Given the description of an element on the screen output the (x, y) to click on. 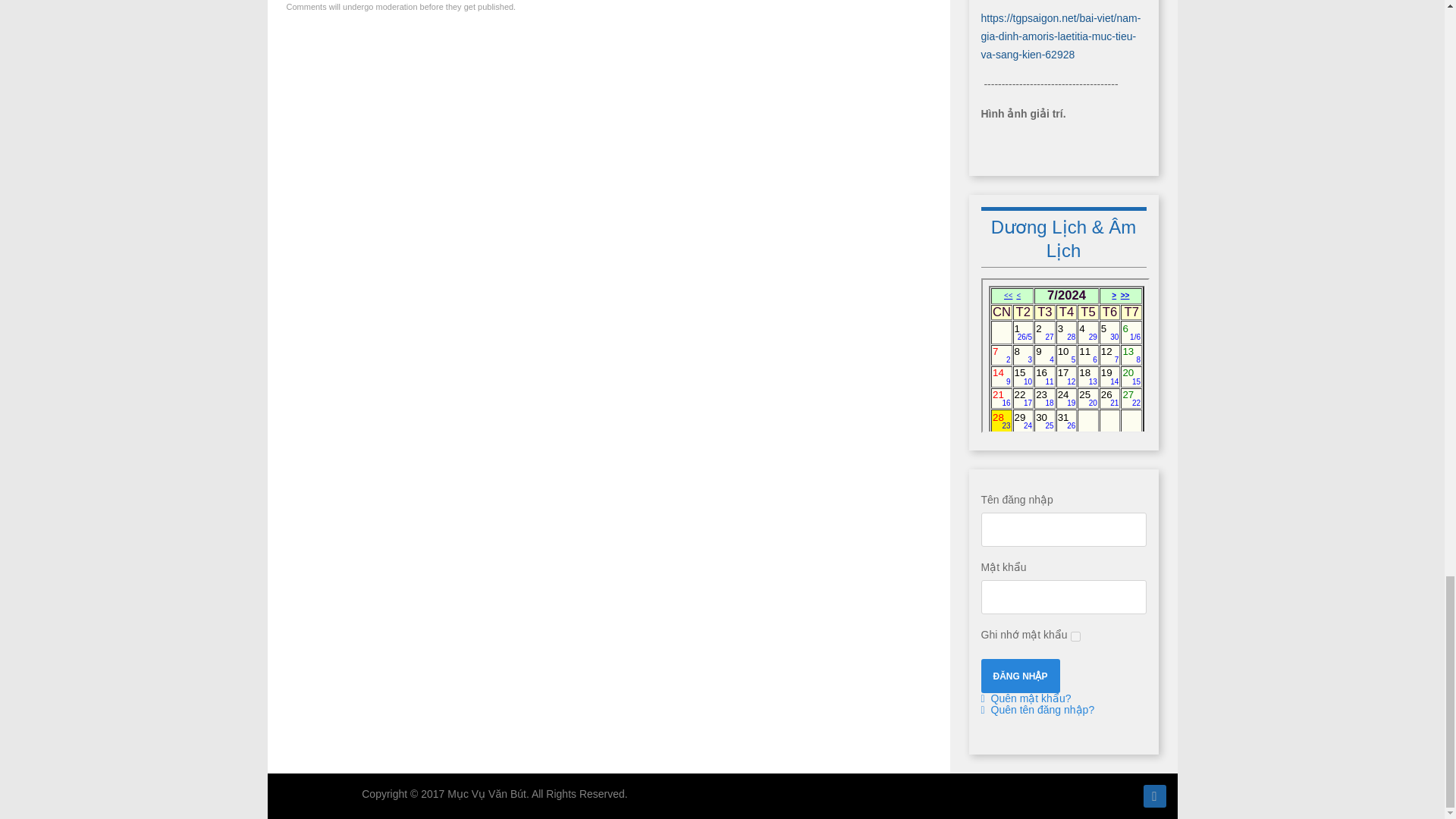
yes (1075, 636)
